Given the description of an element on the screen output the (x, y) to click on. 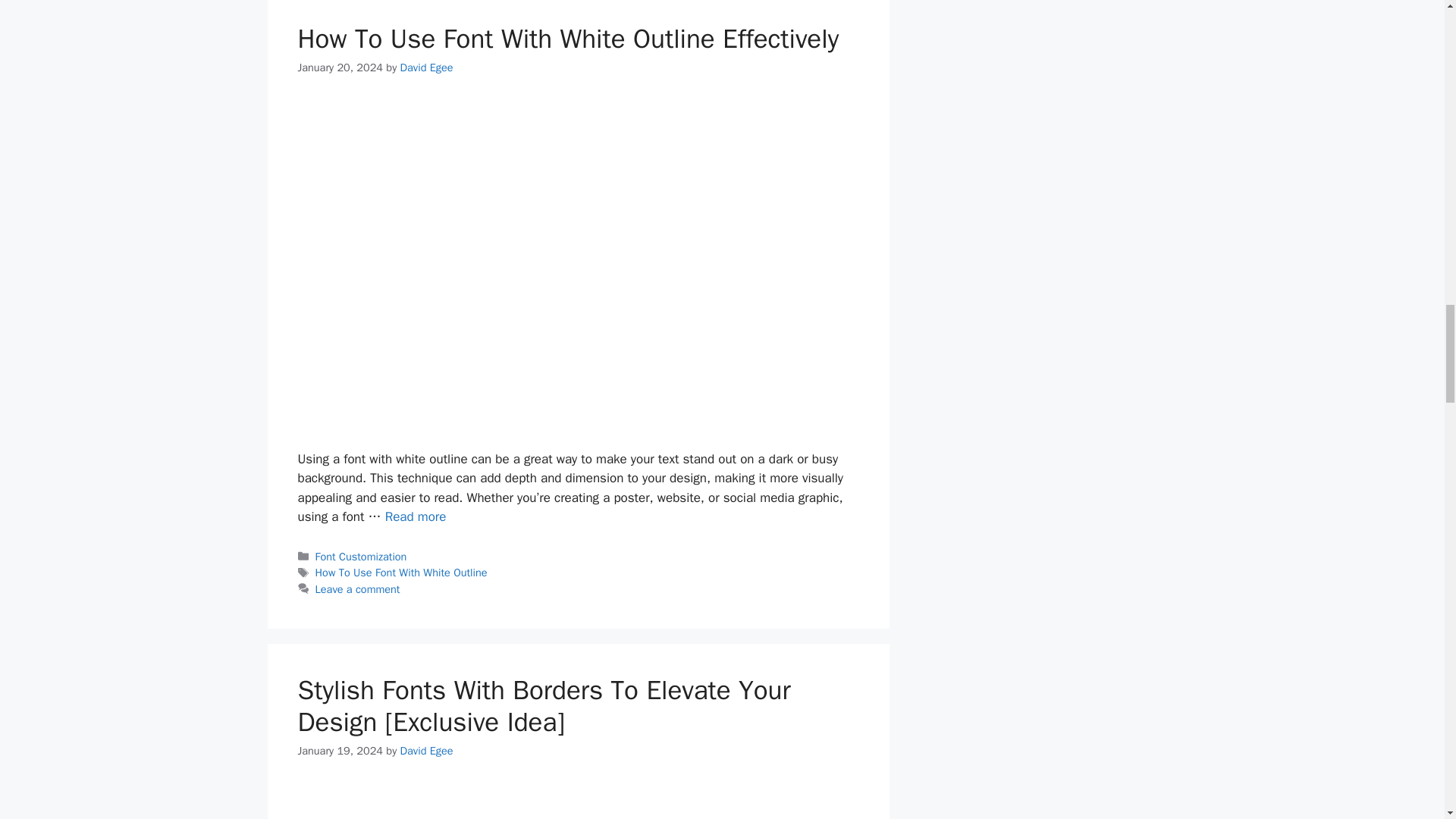
Read more (415, 516)
David Egee (426, 67)
View all posts by David Egee (426, 67)
How To Use Font With White Outline Effectively (415, 516)
How To Use Font With White Outline Effectively (567, 38)
View all posts by David Egee (426, 750)
